Given the description of an element on the screen output the (x, y) to click on. 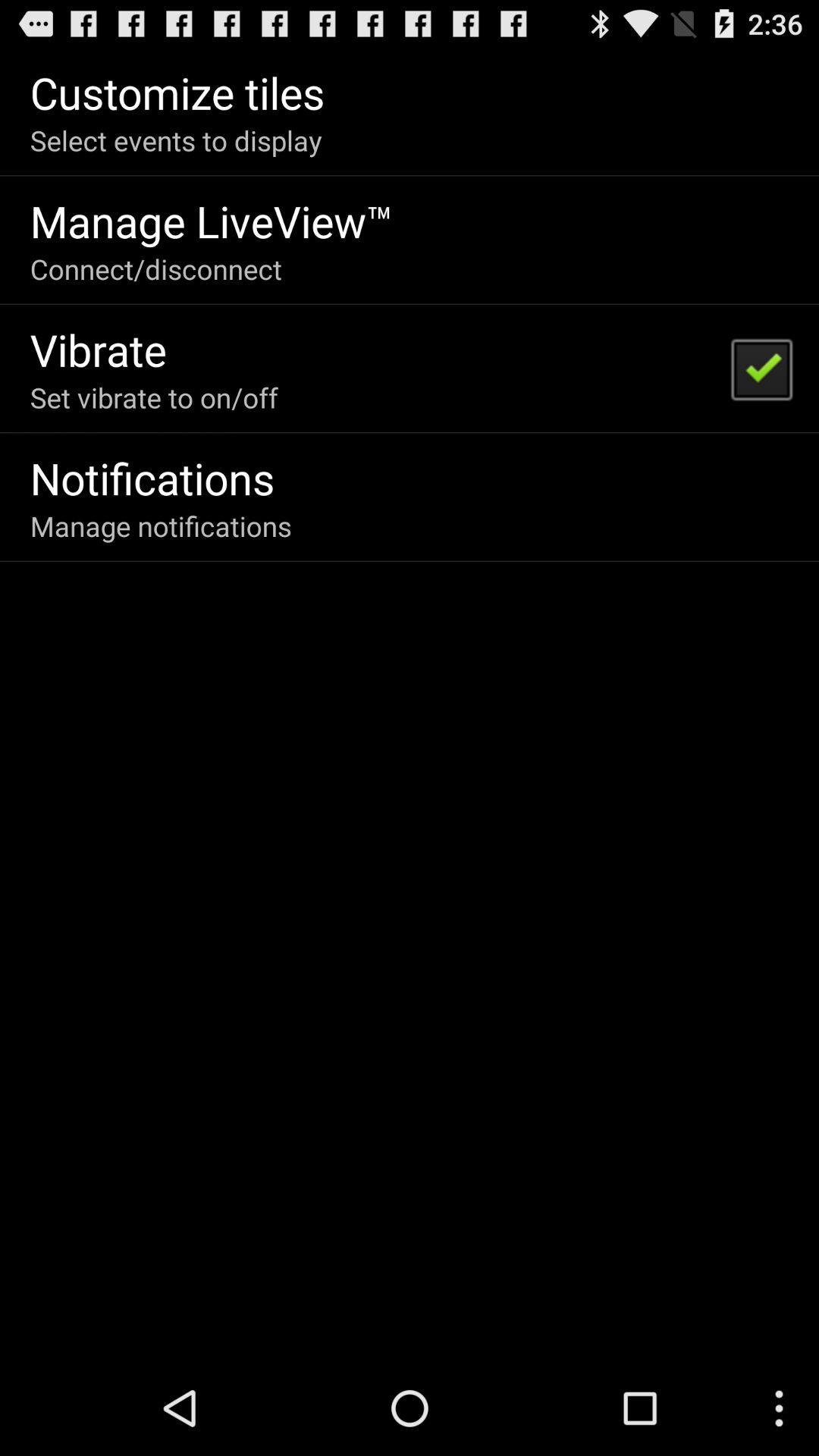
jump to connect/disconnect (156, 268)
